Given the description of an element on the screen output the (x, y) to click on. 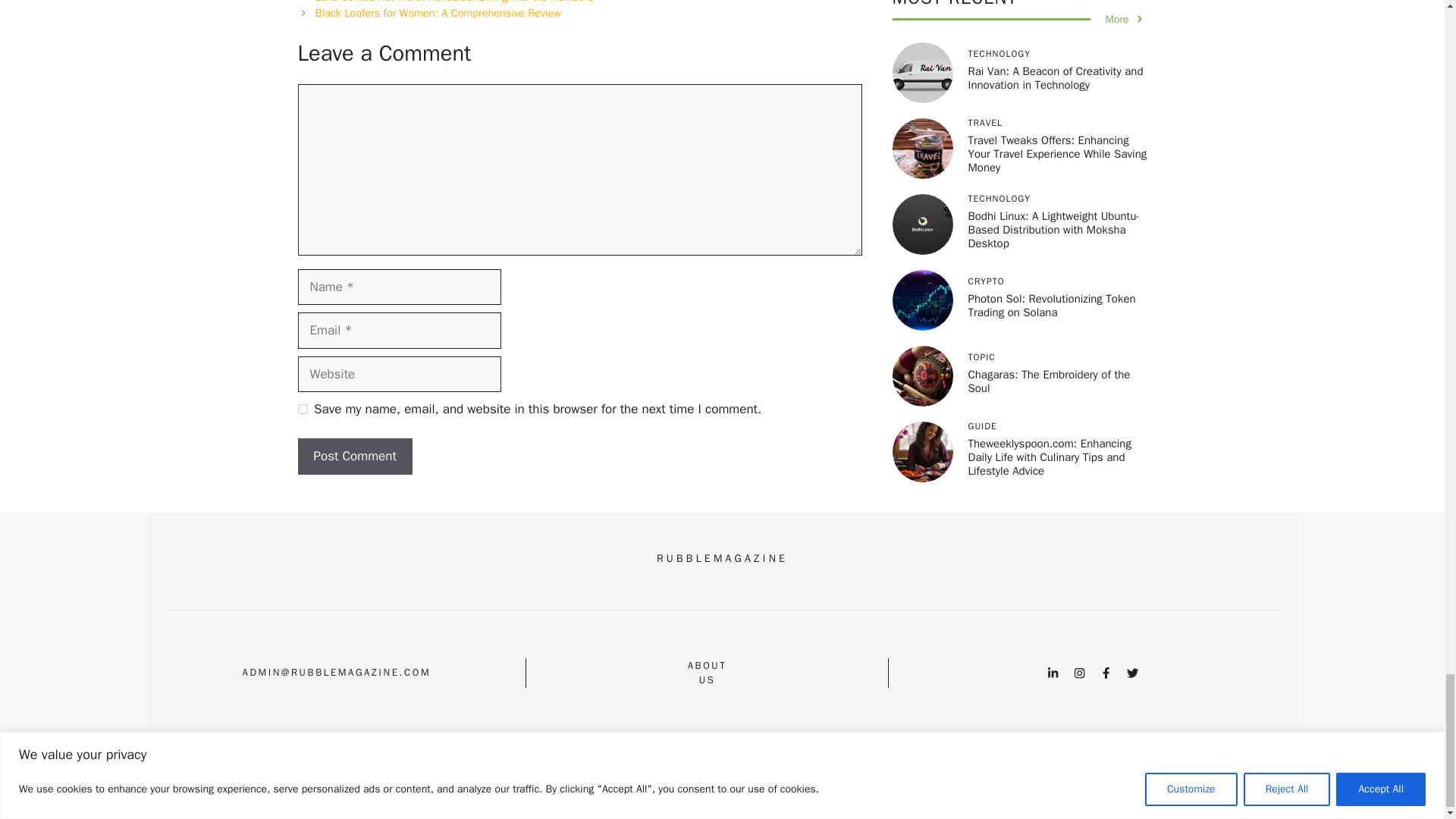
Black Loafers for Women: A Comprehensive Review (437, 12)
yes (302, 409)
Post Comment (354, 456)
Post Comment (354, 456)
Luke Combs Net Worth Revealed: Diving into the Numbers (454, 2)
